Given the description of an element on the screen output the (x, y) to click on. 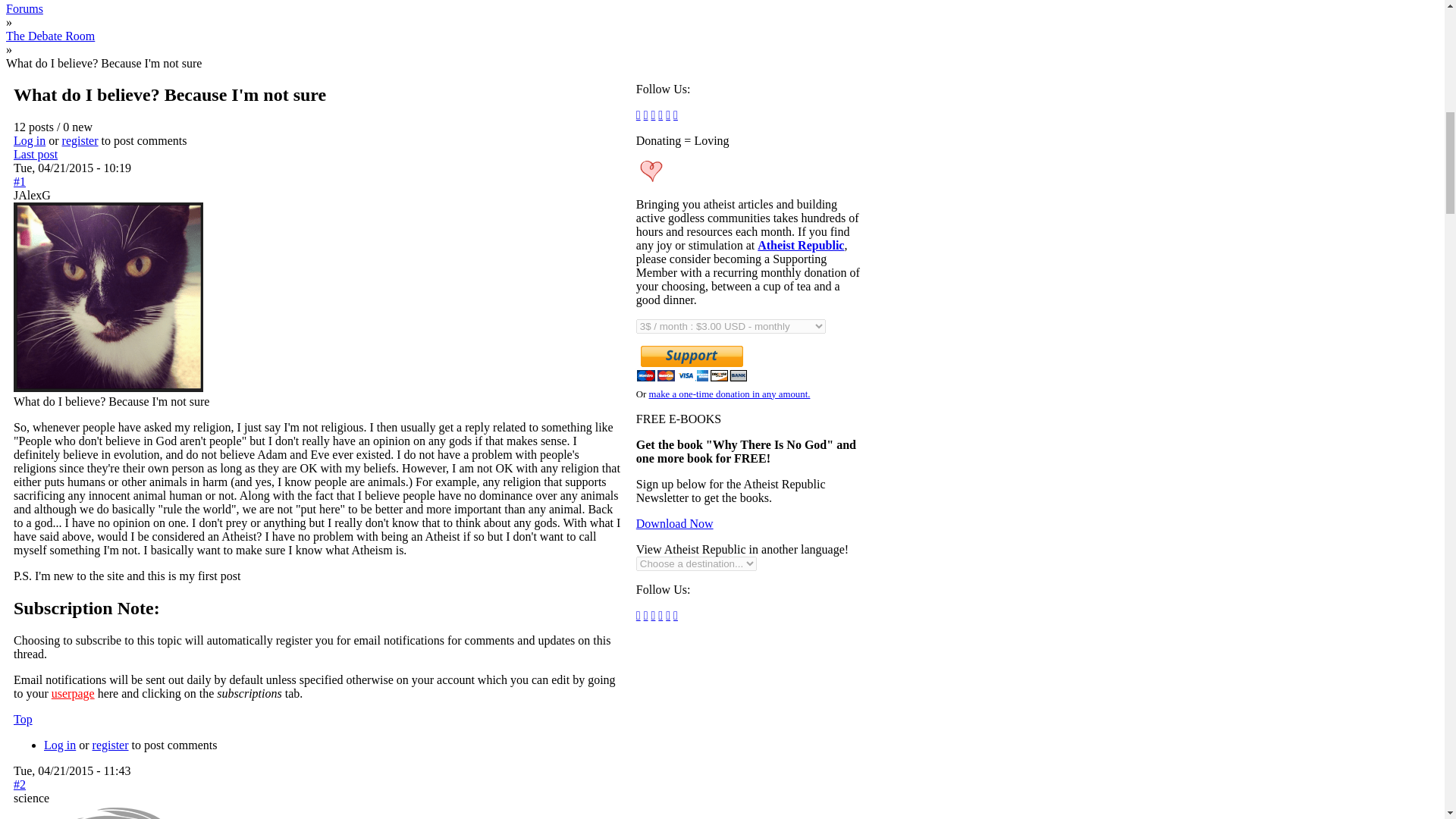
JAlexG's picture (108, 297)
Jump to top of page (22, 718)
Forums (24, 7)
science's picture (108, 812)
